Given the description of an element on the screen output the (x, y) to click on. 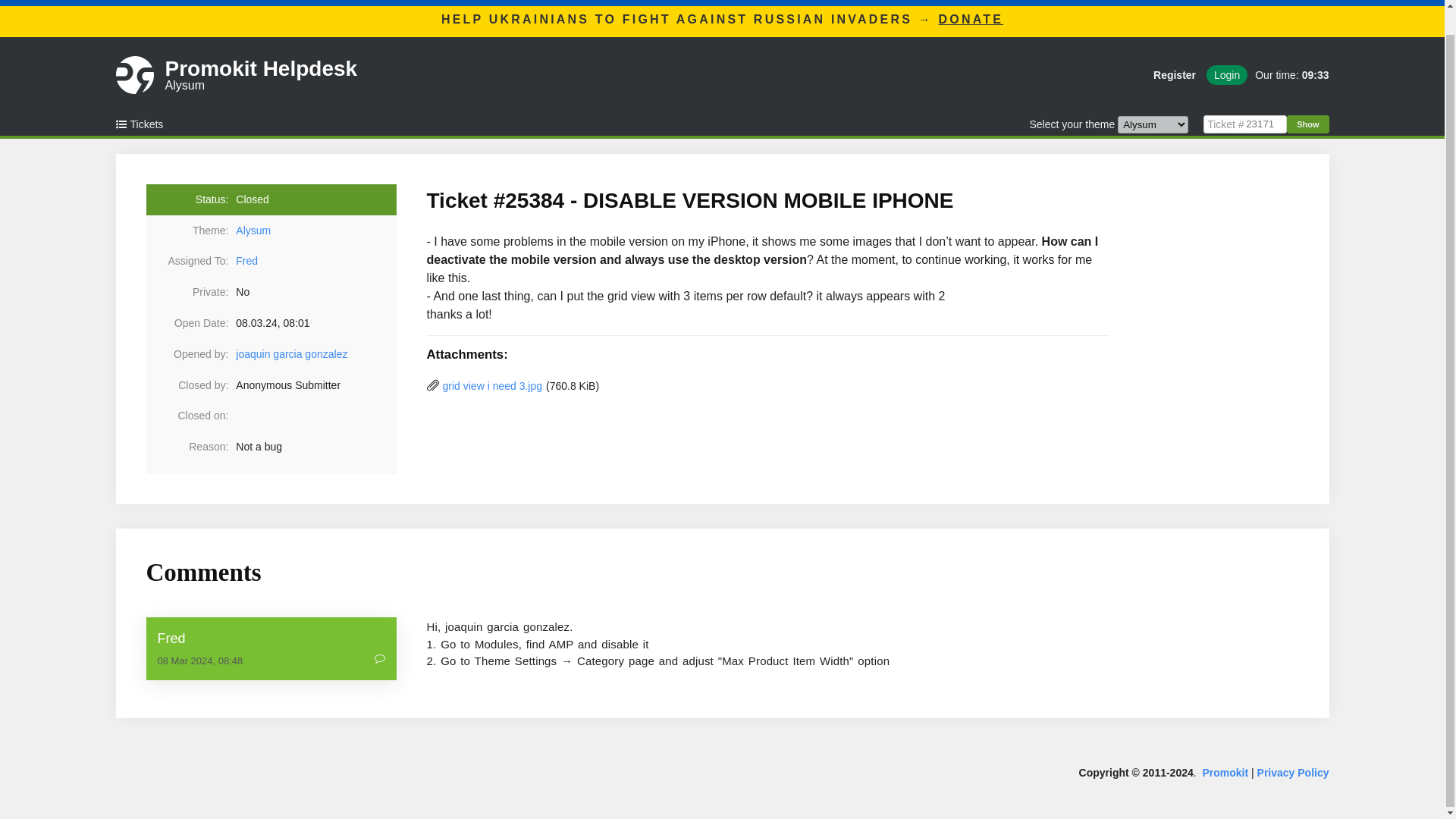
fred (246, 260)
grid view i need  3.jpg (492, 386)
Our time: 09:33 (1287, 75)
Tickets (144, 124)
DONATE (971, 19)
joaquin garcia gonzalez (291, 354)
Login (1227, 75)
Privacy Policy (1293, 772)
Show (1307, 124)
Fred (246, 260)
Alysum (315, 230)
fred (271, 638)
Fred (271, 638)
Register (1174, 75)
Comment Link (379, 660)
